Given the description of an element on the screen output the (x, y) to click on. 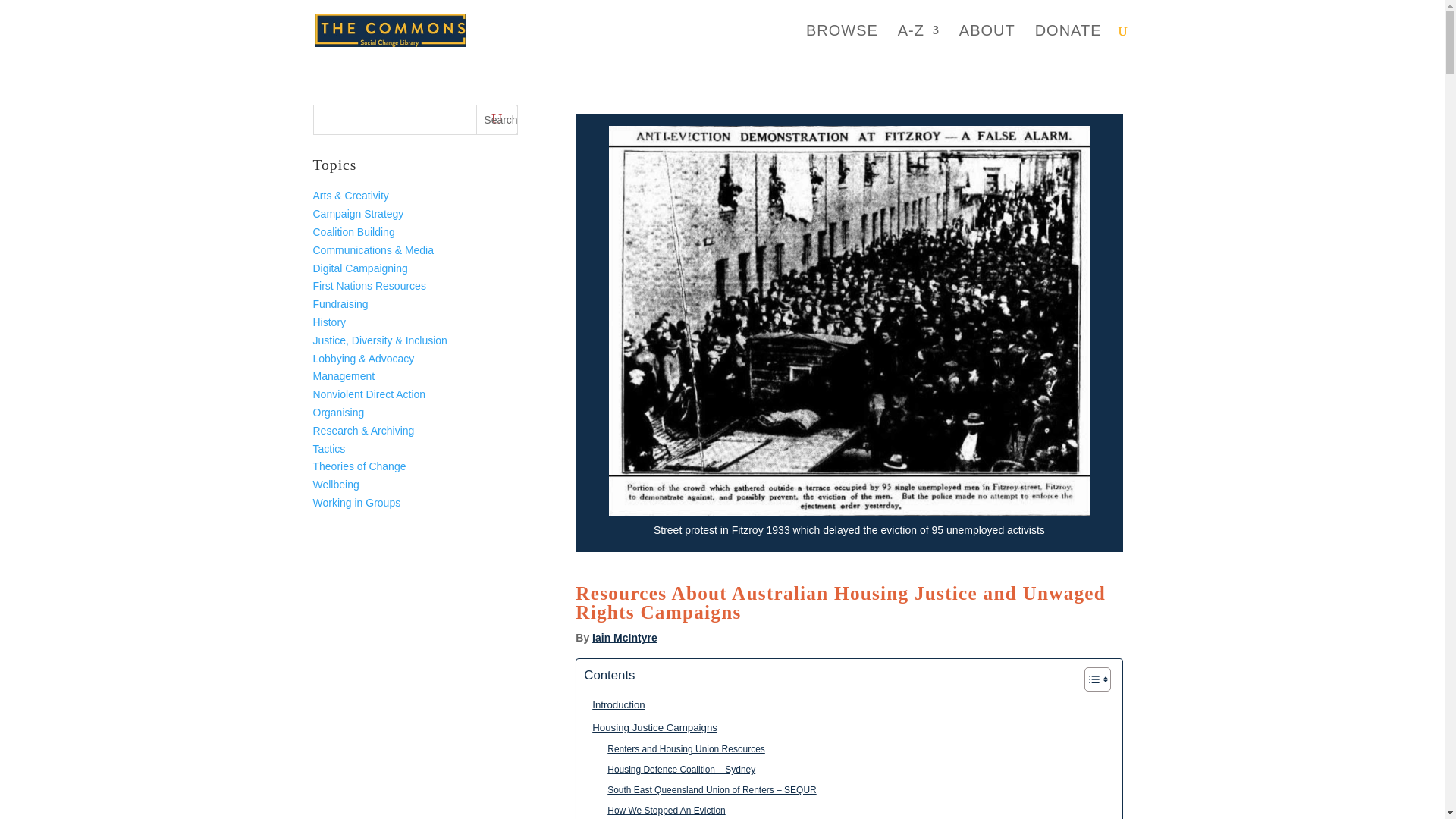
Iain McIntyre (625, 637)
A-Z (918, 42)
DONATE (1068, 42)
Housing Justice Campaigns (650, 727)
Housing Justice Campaigns (650, 727)
How We Stopped An Eviction (661, 810)
BROWSE (841, 42)
ABOUT (986, 42)
Introduction (614, 704)
Renters and Housing Union Resources (681, 749)
